Given the description of an element on the screen output the (x, y) to click on. 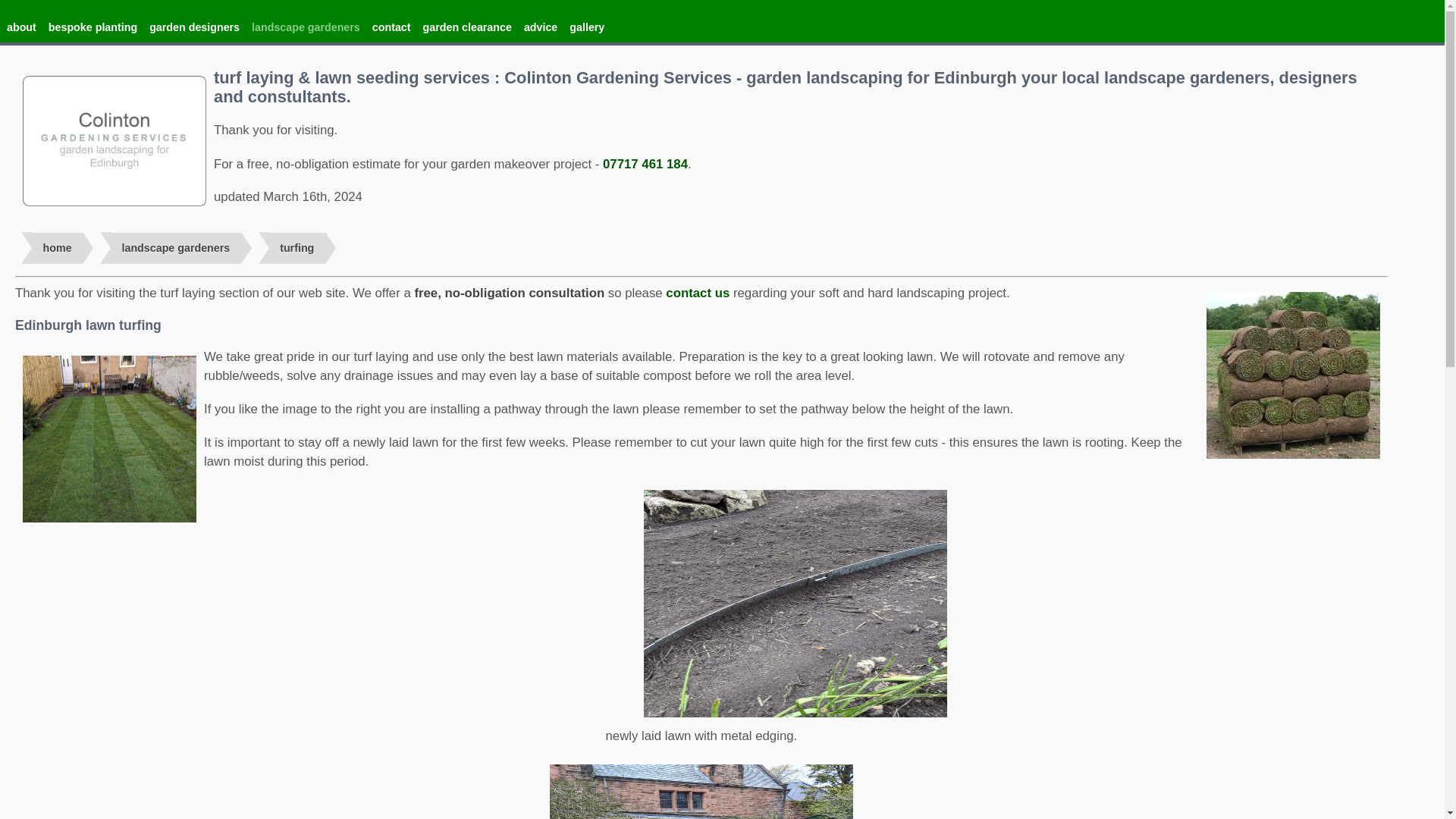
bespoke planting (92, 27)
some garden landscaping images (586, 27)
garden clearance (467, 27)
garden designers (194, 27)
about us (21, 27)
our landscape gardeners services (305, 27)
contact (391, 27)
home page (57, 247)
advice (540, 27)
our landscape gardeners services (175, 247)
our garden designers (194, 27)
bespoke planting plans (92, 27)
call us regarding your landscape gardeners project (644, 164)
contact Colinton Gardening Services (697, 292)
07717 461 184 (644, 164)
